Given the description of an element on the screen output the (x, y) to click on. 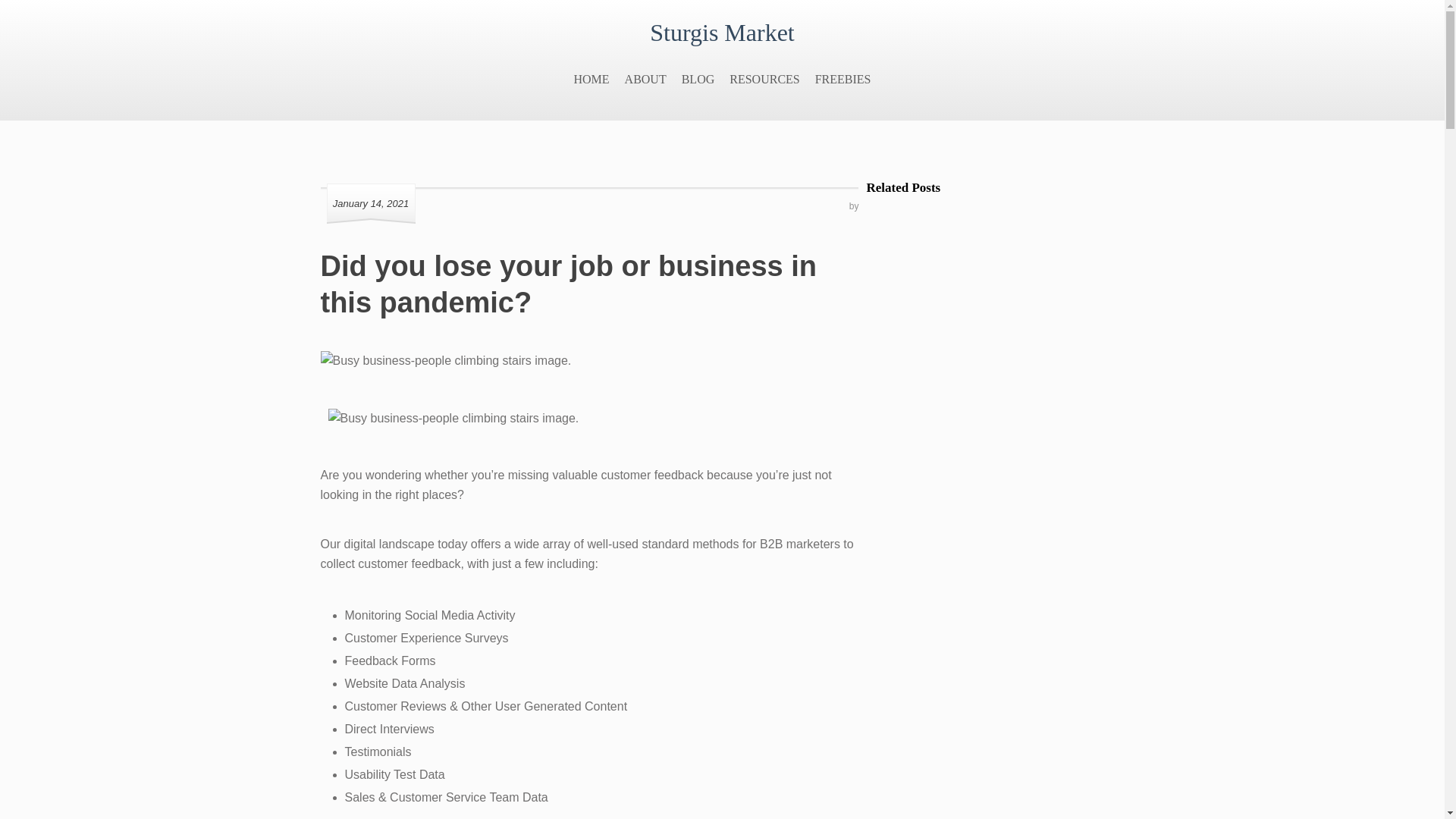
Did you lose your job or business in this pandemic? (568, 284)
ABOUT (645, 79)
FREEBIES (843, 79)
HOME (590, 79)
BLOG (698, 79)
RESOURCES (764, 79)
Sturgis Market (721, 31)
